Given the description of an element on the screen output the (x, y) to click on. 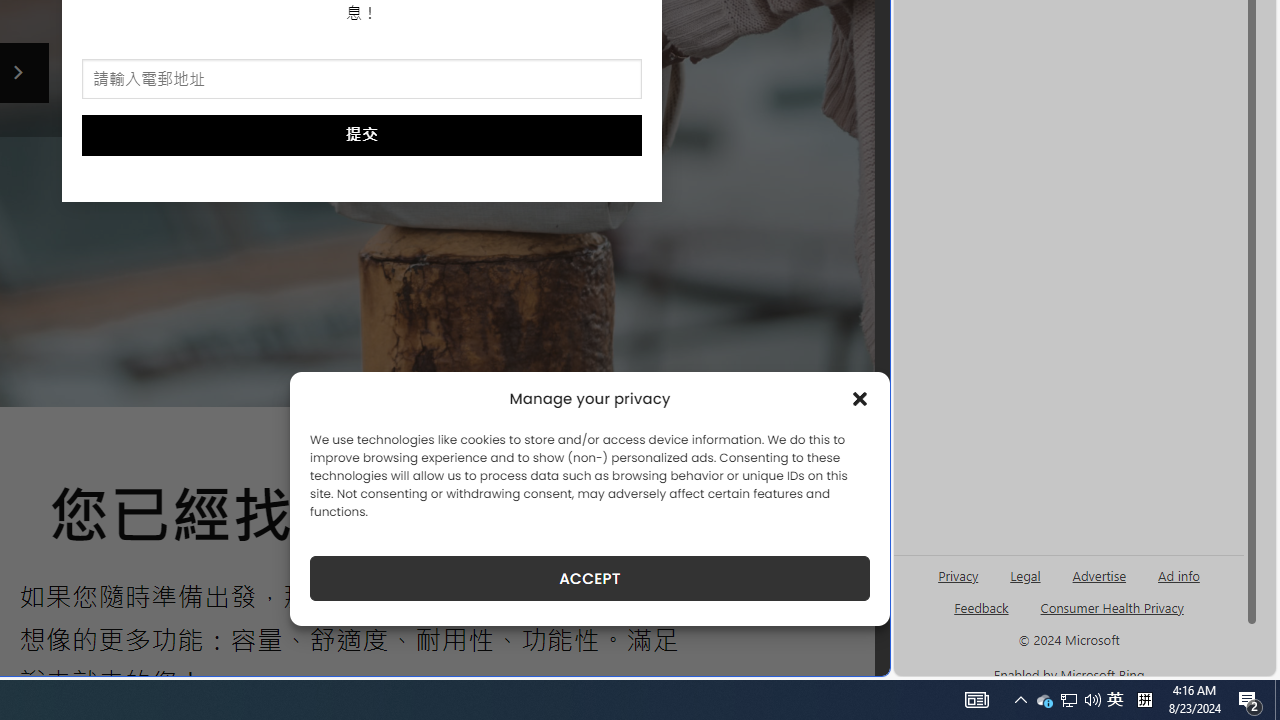
Class: cmplz-close (859, 398)
AutomationID: field_5_1 (361, 80)
AutomationID: input_5_1 (361, 79)
AutomationID: sb_feedback (980, 607)
ACCEPT (589, 578)
AutomationID: genId96 (981, 615)
